Given the description of an element on the screen output the (x, y) to click on. 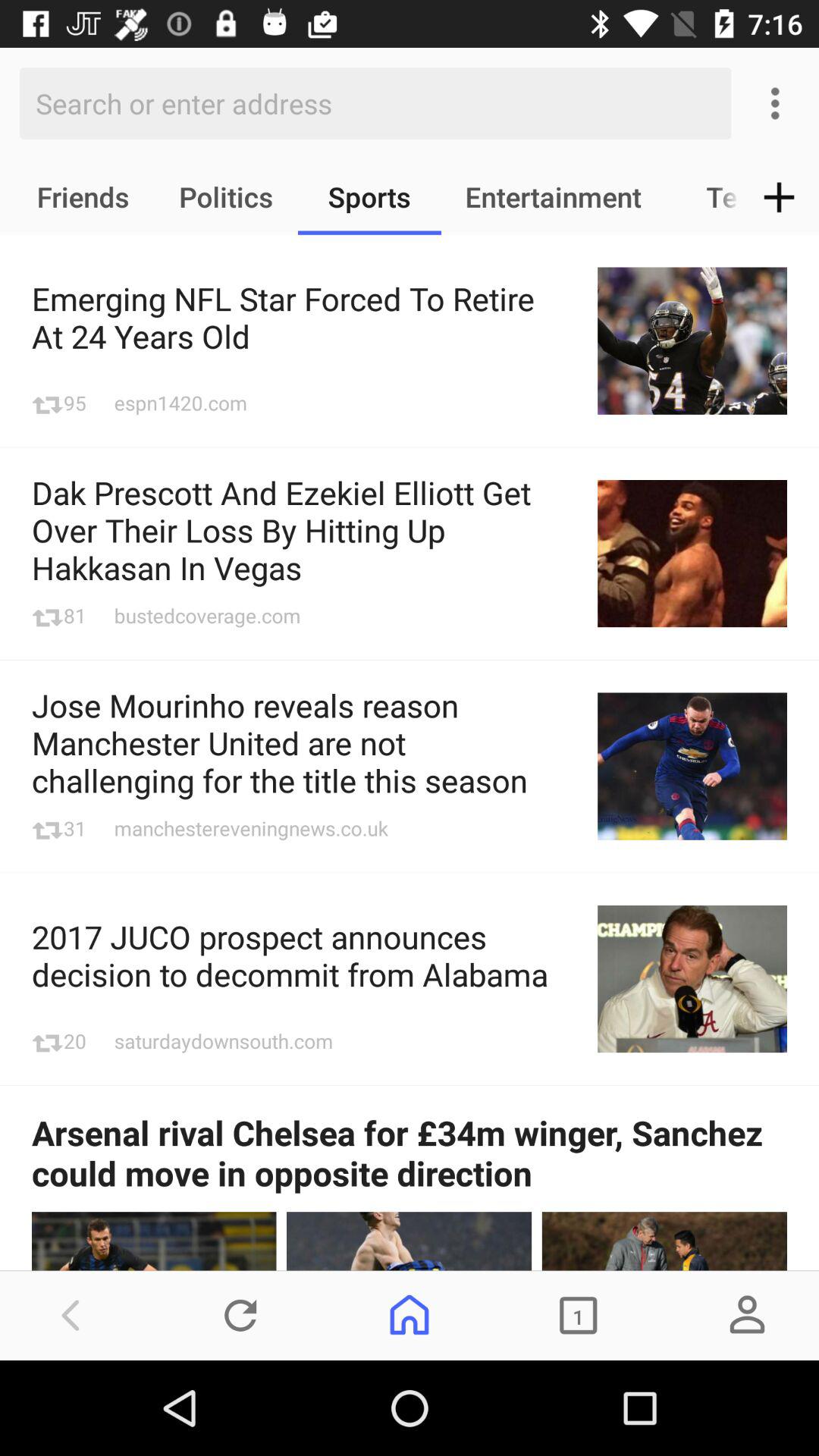
tap the item to the right of the tech icon (779, 196)
